Given the description of an element on the screen output the (x, y) to click on. 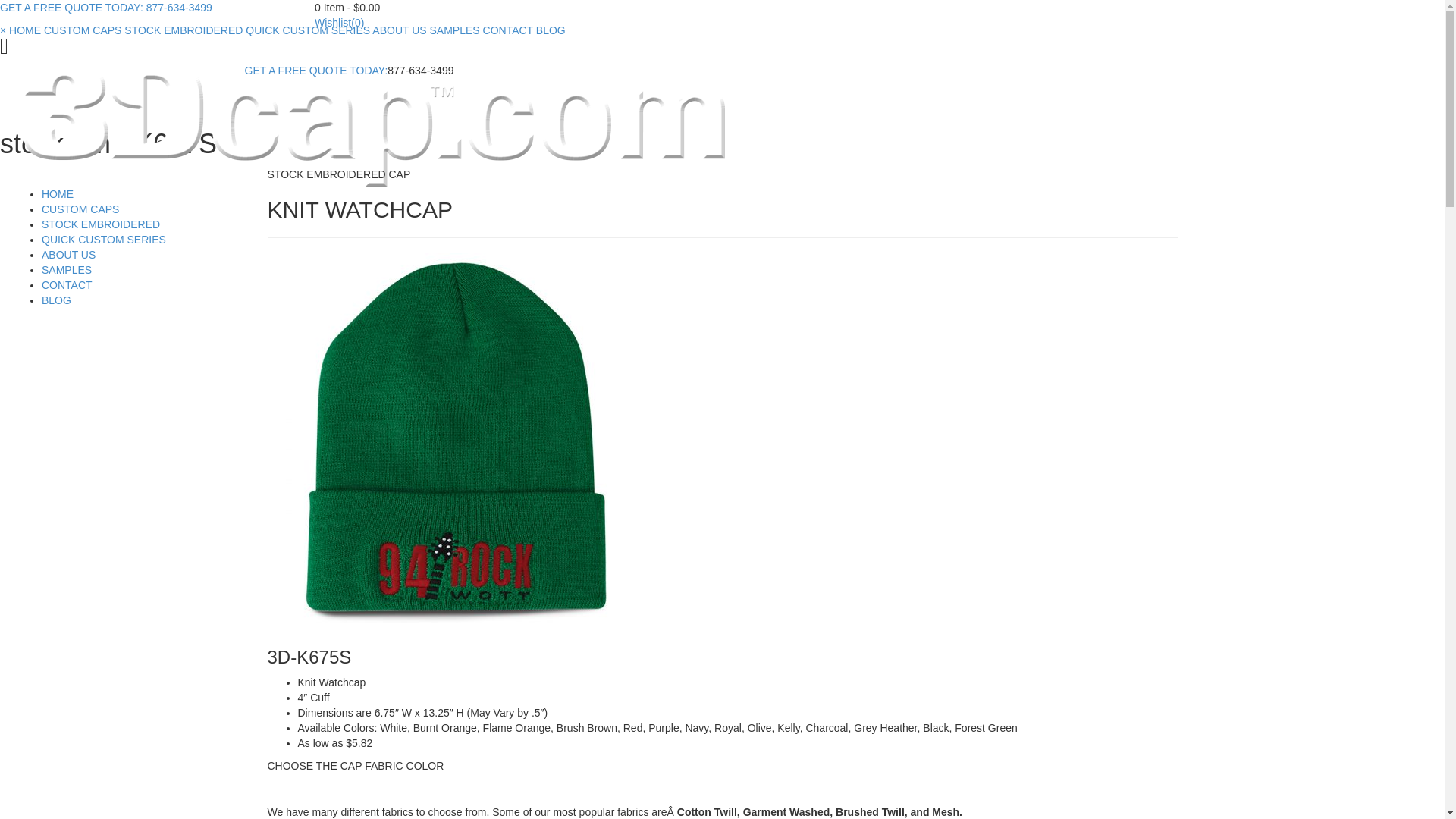
GET A FREE QUOTE TODAY: Element type: text (71, 7)
Default Element type: hover (373, 124)
ABOUT US Element type: text (68, 254)
BLOG Element type: text (56, 300)
CONTACT Element type: text (66, 285)
STOCK EMBROIDERED Element type: text (183, 30)
QUICK CUSTOM SERIES Element type: text (307, 30)
ABOUT US Element type: text (399, 30)
CONTACT Element type: text (508, 30)
SAMPLES Element type: text (66, 269)
HOME Element type: text (24, 30)
HOME Element type: text (57, 194)
CUSTOM CAPS Element type: text (80, 209)
STOCK EMBROIDERED Element type: text (100, 224)
CUSTOM CAPS Element type: text (82, 30)
QUICK CUSTOM SERIES Element type: text (103, 239)
GET A FREE QUOTE TODAY: Element type: text (315, 70)
BLOG Element type: text (550, 30)
SAMPLES Element type: text (454, 30)
877-634-3499 Element type: text (177, 7)
Wishlist(0) Element type: text (339, 22)
